Given the description of an element on the screen output the (x, y) to click on. 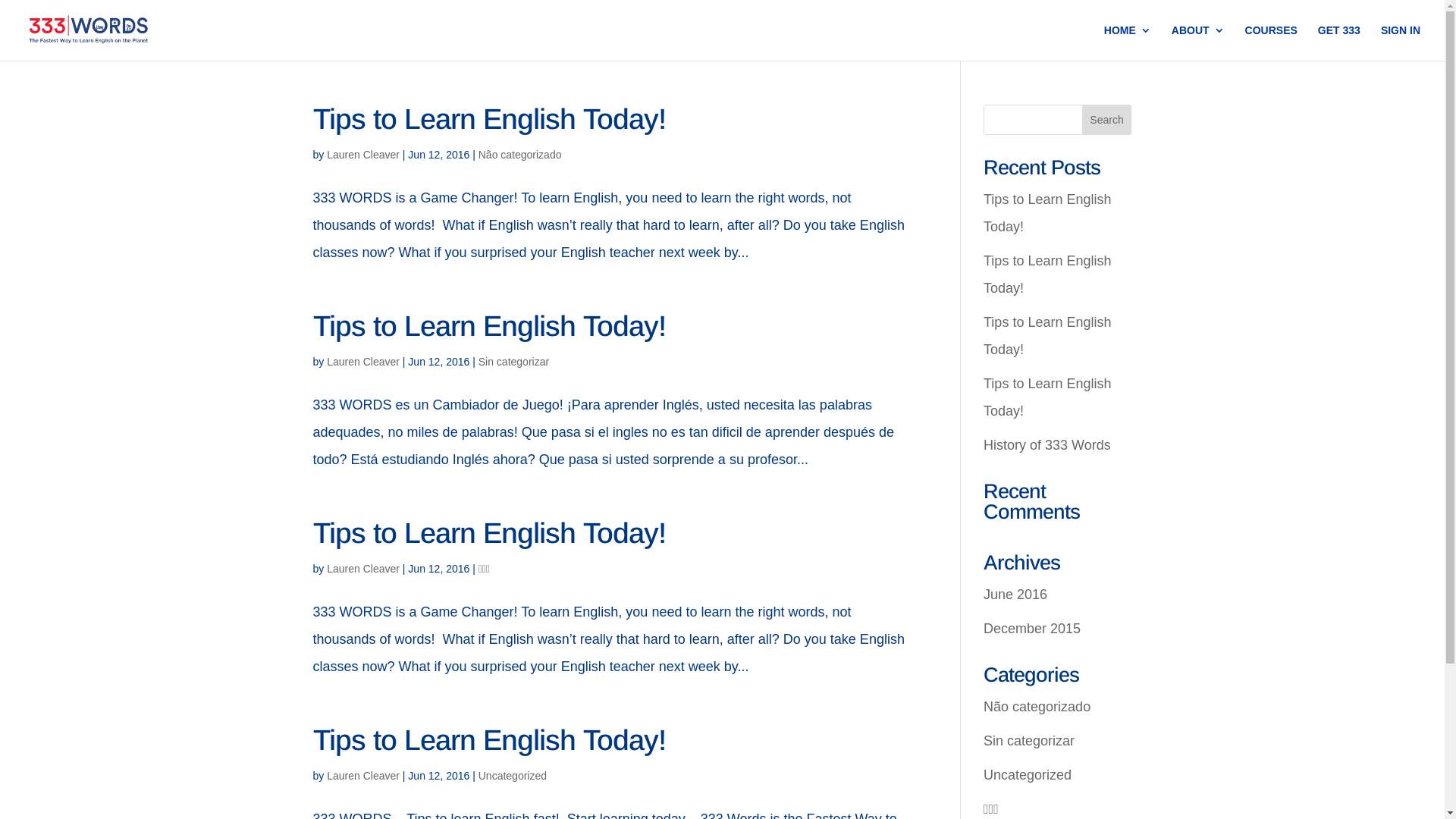
Lauren Cleaver Element type: text (362, 568)
Search Element type: text (1107, 119)
Tips to Learn English Today! Element type: text (1046, 335)
Sin categorizar Element type: text (1028, 740)
Lauren Cleaver Element type: text (362, 154)
Tips to Learn English Today! Element type: text (488, 118)
Lauren Cleaver Element type: text (362, 775)
Uncategorized Element type: text (1027, 774)
Tips to Learn English Today! Element type: text (1046, 212)
History of 333 Words Element type: text (1046, 444)
HOME Element type: text (1127, 42)
GET 333 Element type: text (1338, 42)
Uncategorized Element type: text (512, 775)
Tips to Learn English Today! Element type: text (1046, 274)
Sin categorizar Element type: text (513, 361)
Tips to Learn English Today! Element type: text (488, 740)
Lauren Cleaver Element type: text (362, 361)
COURSES Element type: text (1271, 42)
SIGN IN Element type: text (1400, 42)
Tips to Learn English Today! Element type: text (488, 533)
Tips to Learn English Today! Element type: text (488, 326)
ABOUT Element type: text (1197, 42)
December 2015 Element type: text (1031, 628)
June 2016 Element type: text (1015, 594)
Tips to Learn English Today! Element type: text (1046, 397)
